Given the description of an element on the screen output the (x, y) to click on. 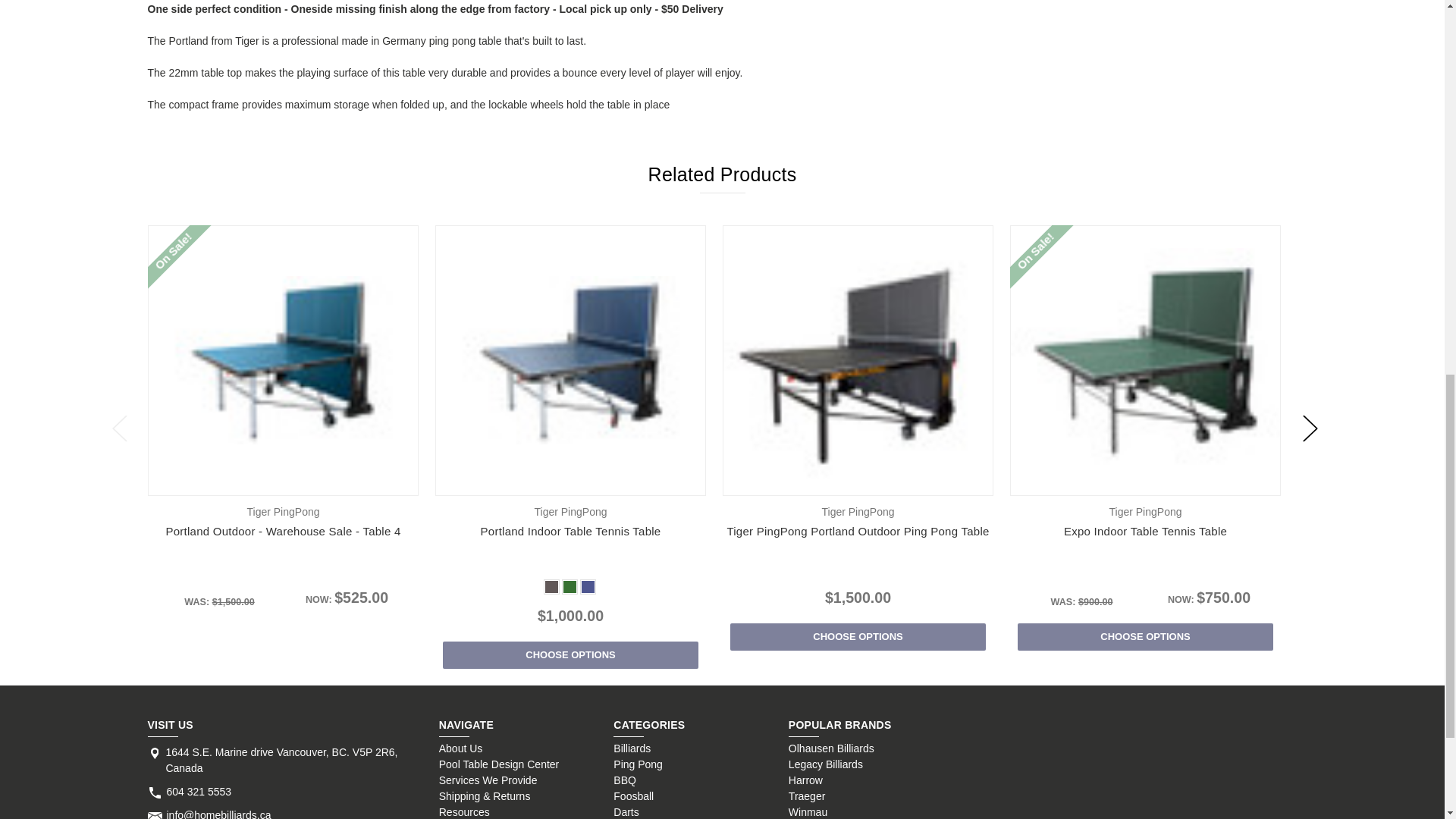
Tiger PingPong Portland Outdoor Ping Pong Table (857, 360)
Portland Outdoor - Warehouse Sale - Table 4 (282, 360)
Expo Indoor Table Tennis Table (1144, 360)
Portland Indoor Table Tennis Table (569, 360)
